Given the description of an element on the screen output the (x, y) to click on. 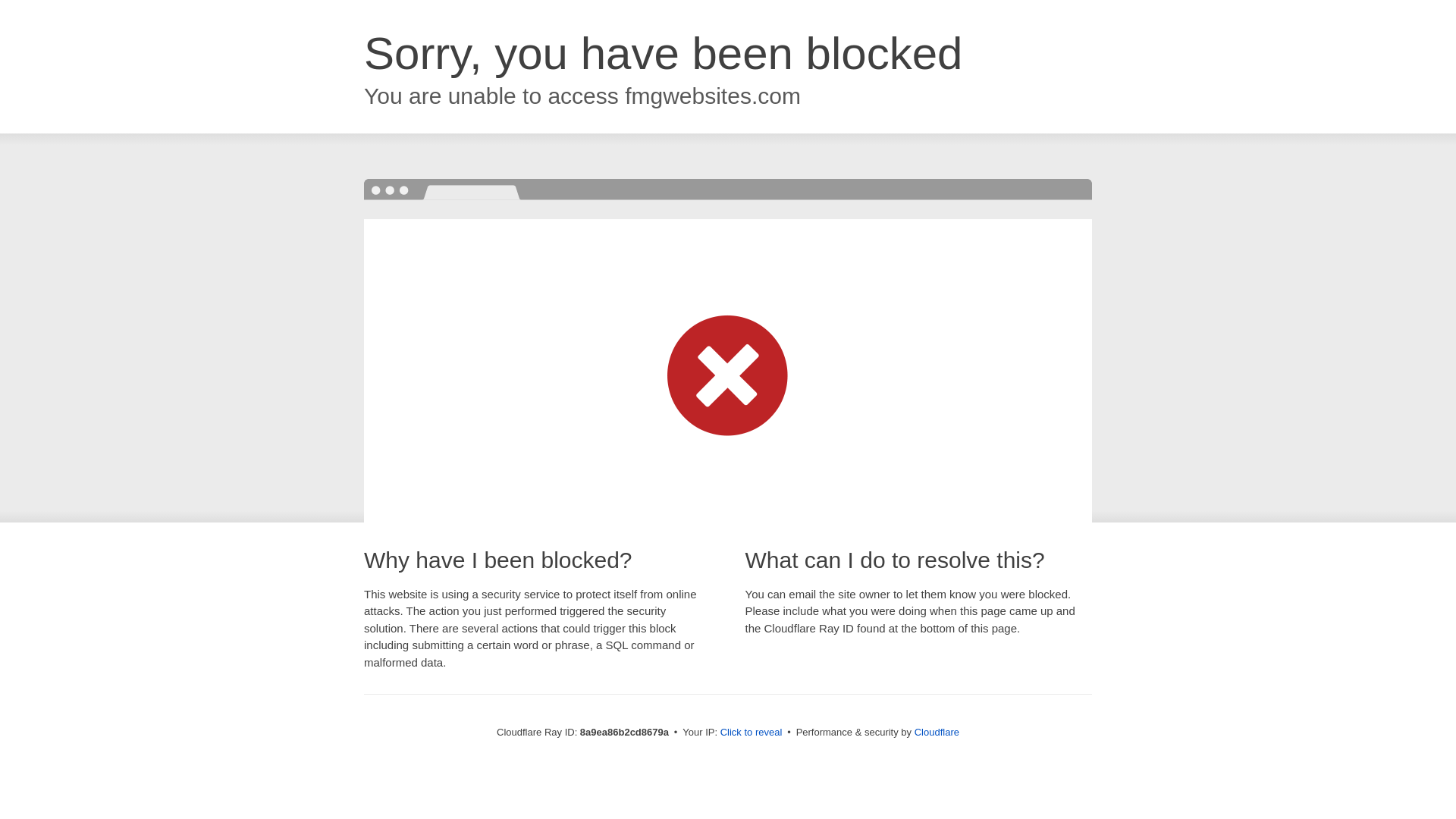
Click to reveal (751, 732)
Cloudflare (936, 731)
